Given the description of an element on the screen output the (x, y) to click on. 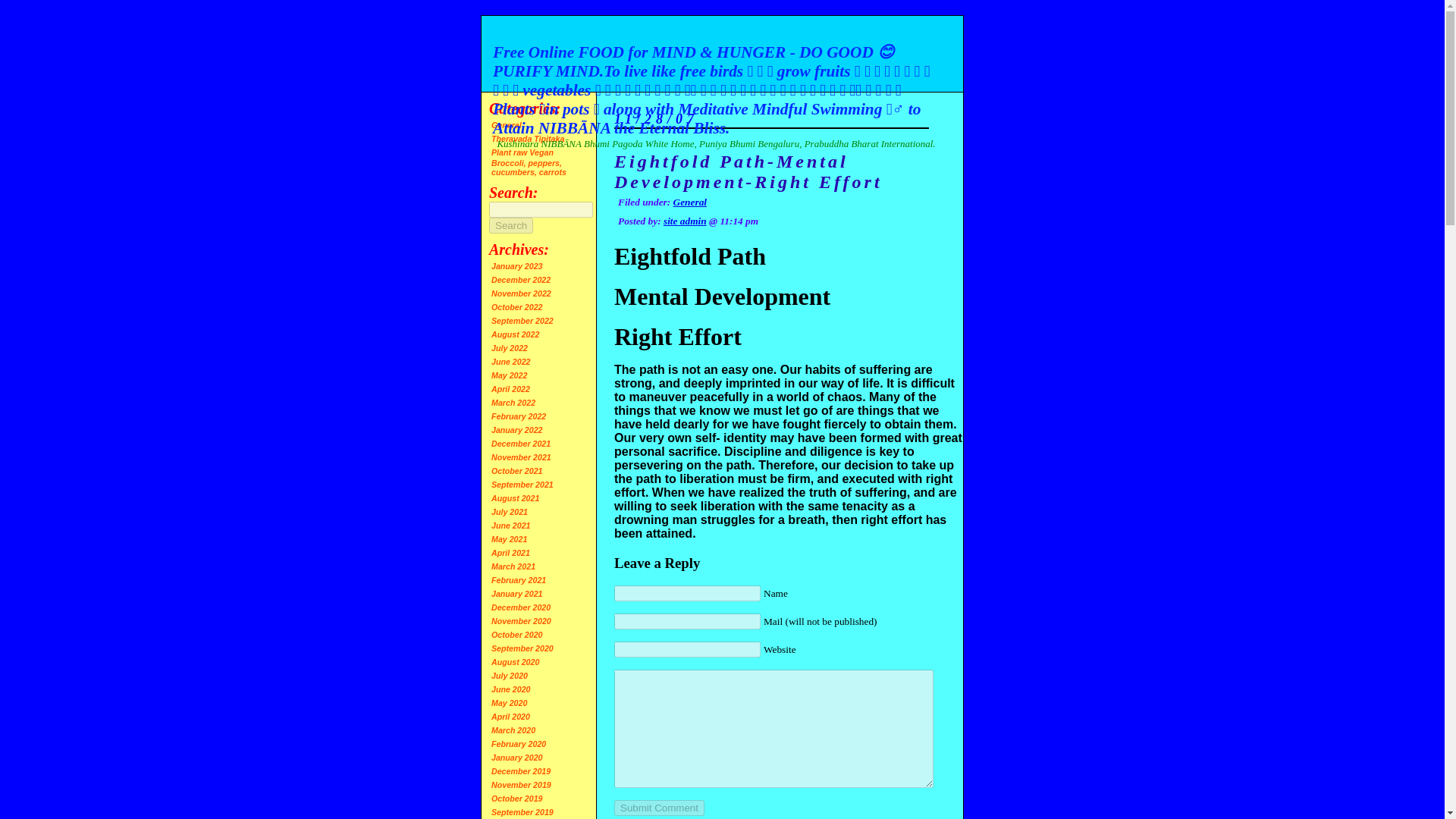
June 2020 (511, 688)
October 2022 (517, 307)
November 2020 (521, 620)
May 2020 (509, 702)
Theravada Tipitaka (528, 138)
December 2022 (521, 279)
Plant raw Vegan Broccoli, peppers, cucumbers, carrots (529, 162)
September 2021 (522, 483)
Search (510, 225)
September 2022 (522, 320)
